Given the description of an element on the screen output the (x, y) to click on. 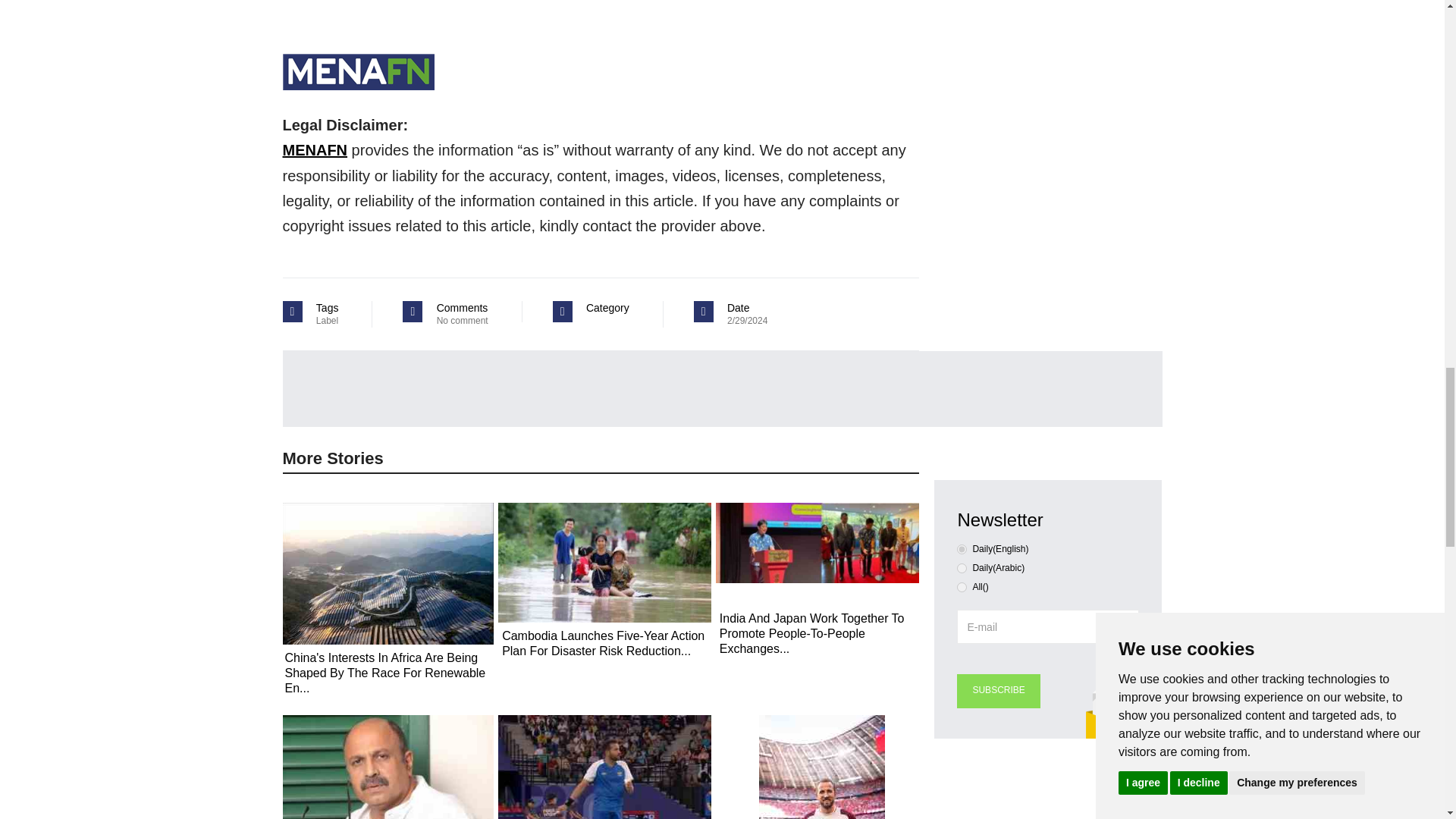
Subscribe (997, 691)
2 (961, 587)
1 (961, 568)
Advertisement (1045, 790)
0 (961, 549)
